Given the description of an element on the screen output the (x, y) to click on. 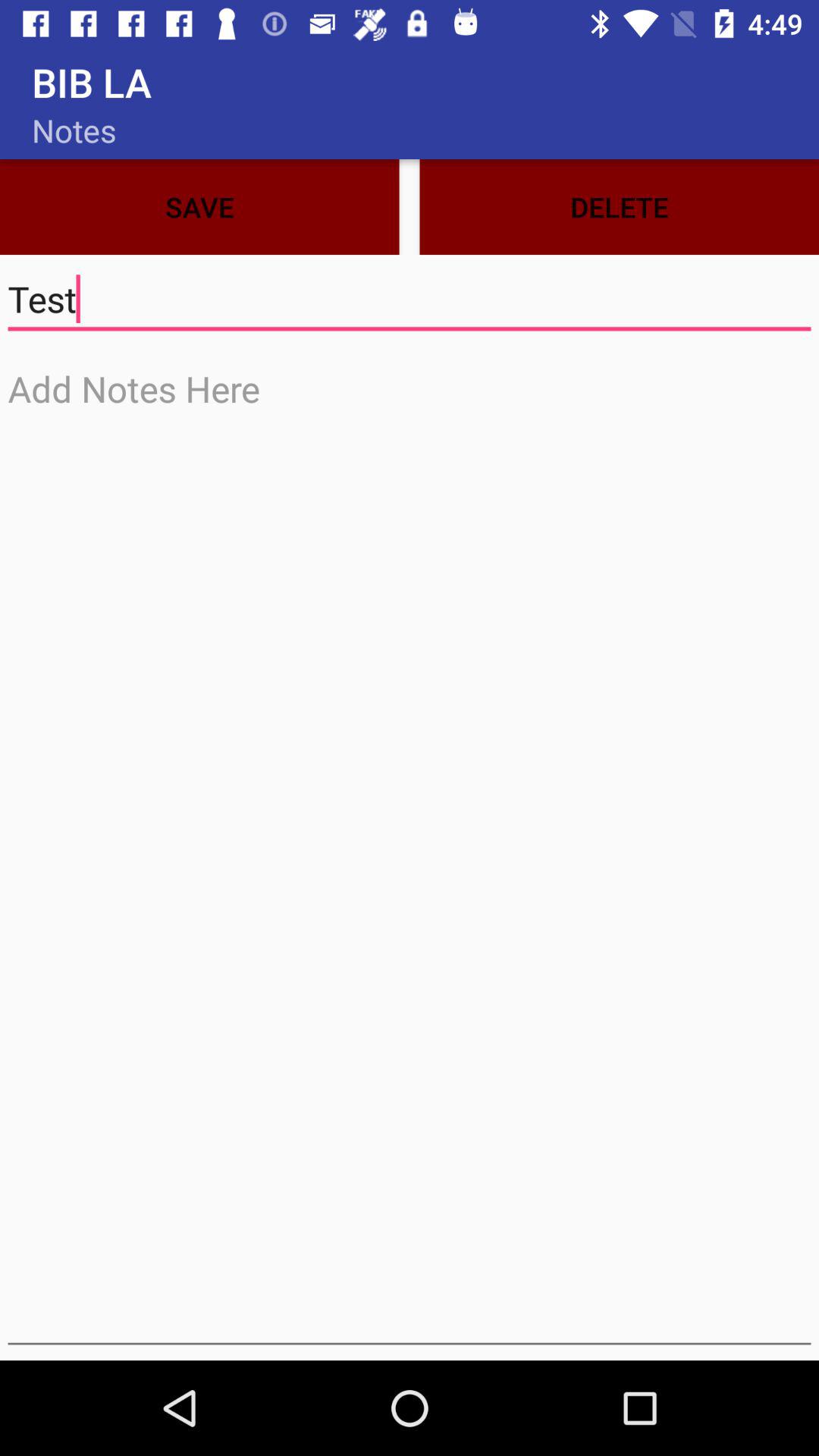
launch item below the test item (409, 852)
